Given the description of an element on the screen output the (x, y) to click on. 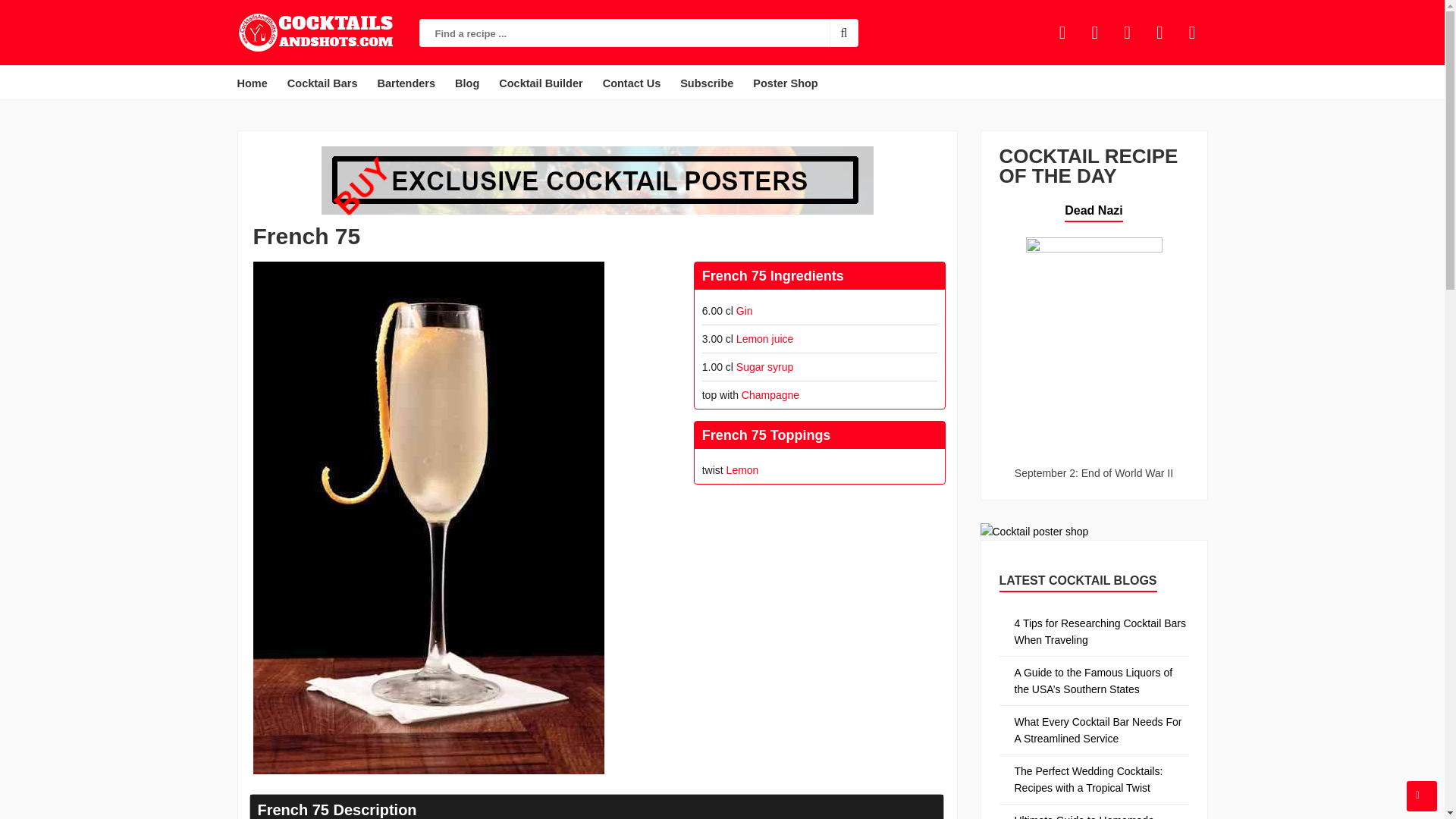
Cocktail Bars (322, 82)
Cocktail Builder (540, 82)
Bartenders (406, 82)
Poster Shop (785, 82)
Blog (466, 82)
Contact Us (631, 82)
Lemon juice (764, 338)
Home (251, 82)
Subscribe (706, 82)
Sugar syrup (764, 367)
